Given the description of an element on the screen output the (x, y) to click on. 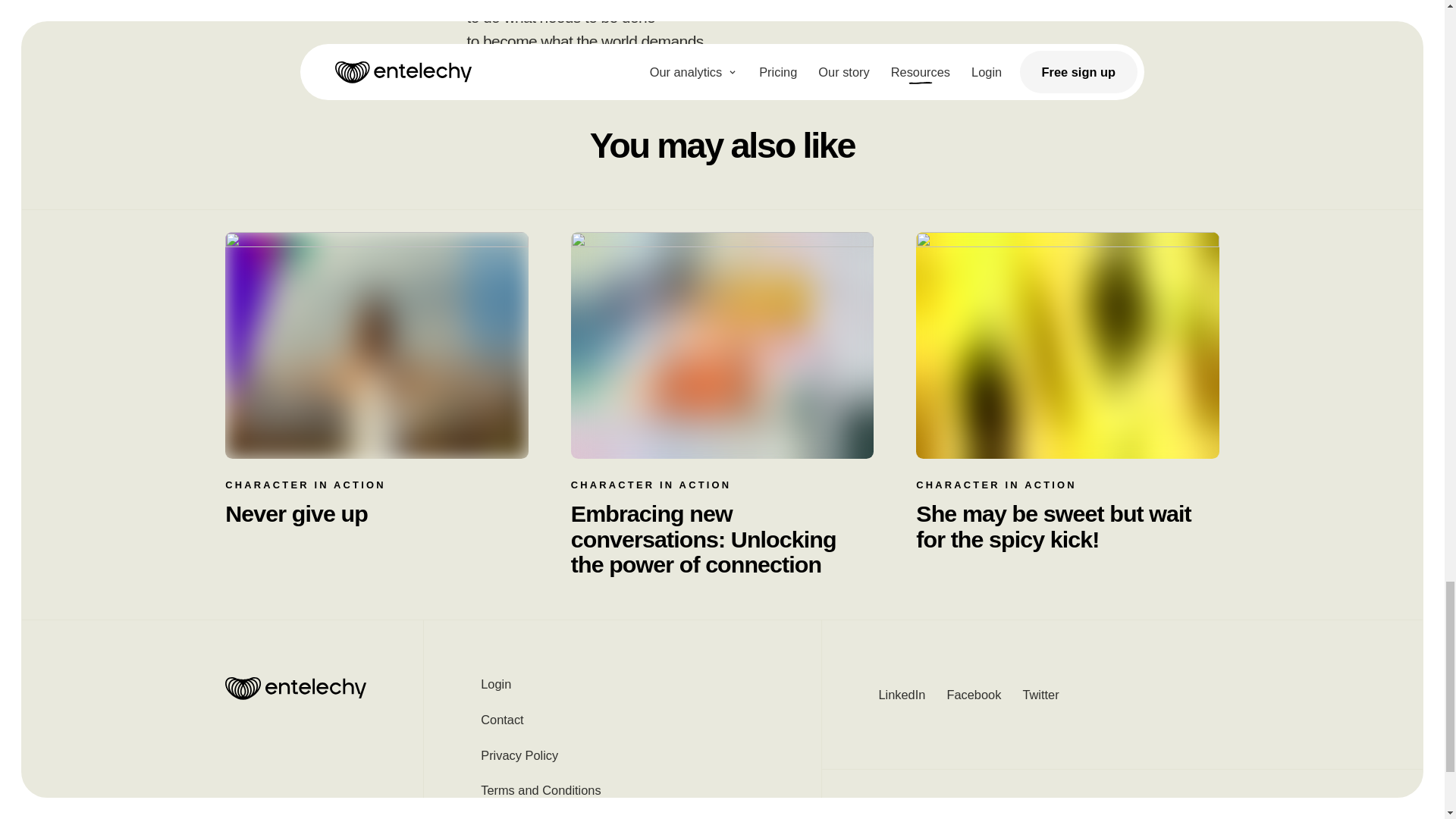
Terms and Conditions (621, 790)
Privacy Policy (621, 755)
Facebook (973, 694)
Login (621, 689)
Complaints Procedure (621, 813)
Contact (621, 719)
Twitter (1040, 694)
She may be sweet but wait for the spicy kick! (1066, 526)
LinkedIn (900, 694)
